Given the description of an element on the screen output the (x, y) to click on. 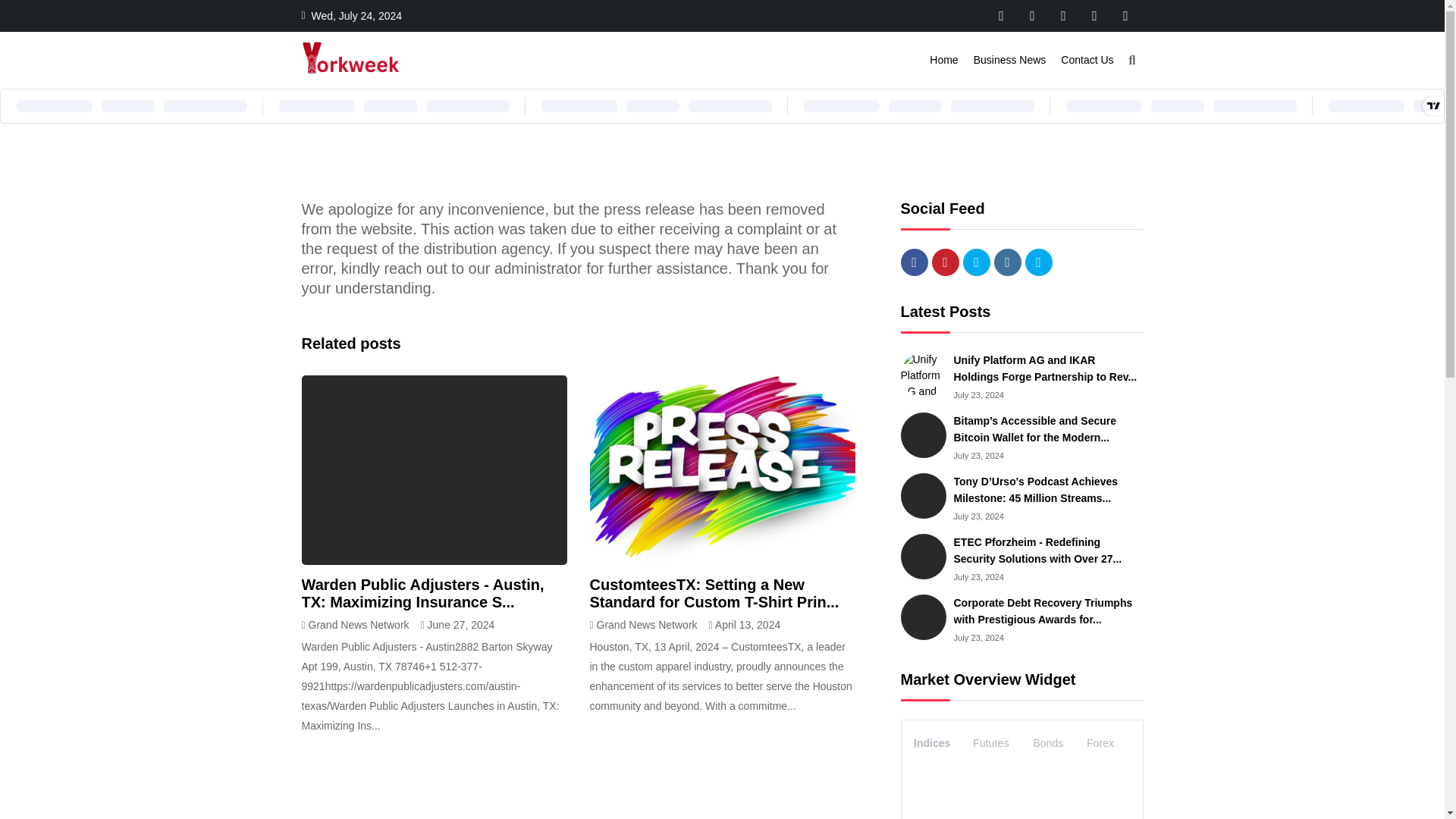
market overview TradingView widget (1021, 769)
Contact Us (1086, 59)
Business News (1010, 59)
Home (943, 59)
